Given the description of an element on the screen output the (x, y) to click on. 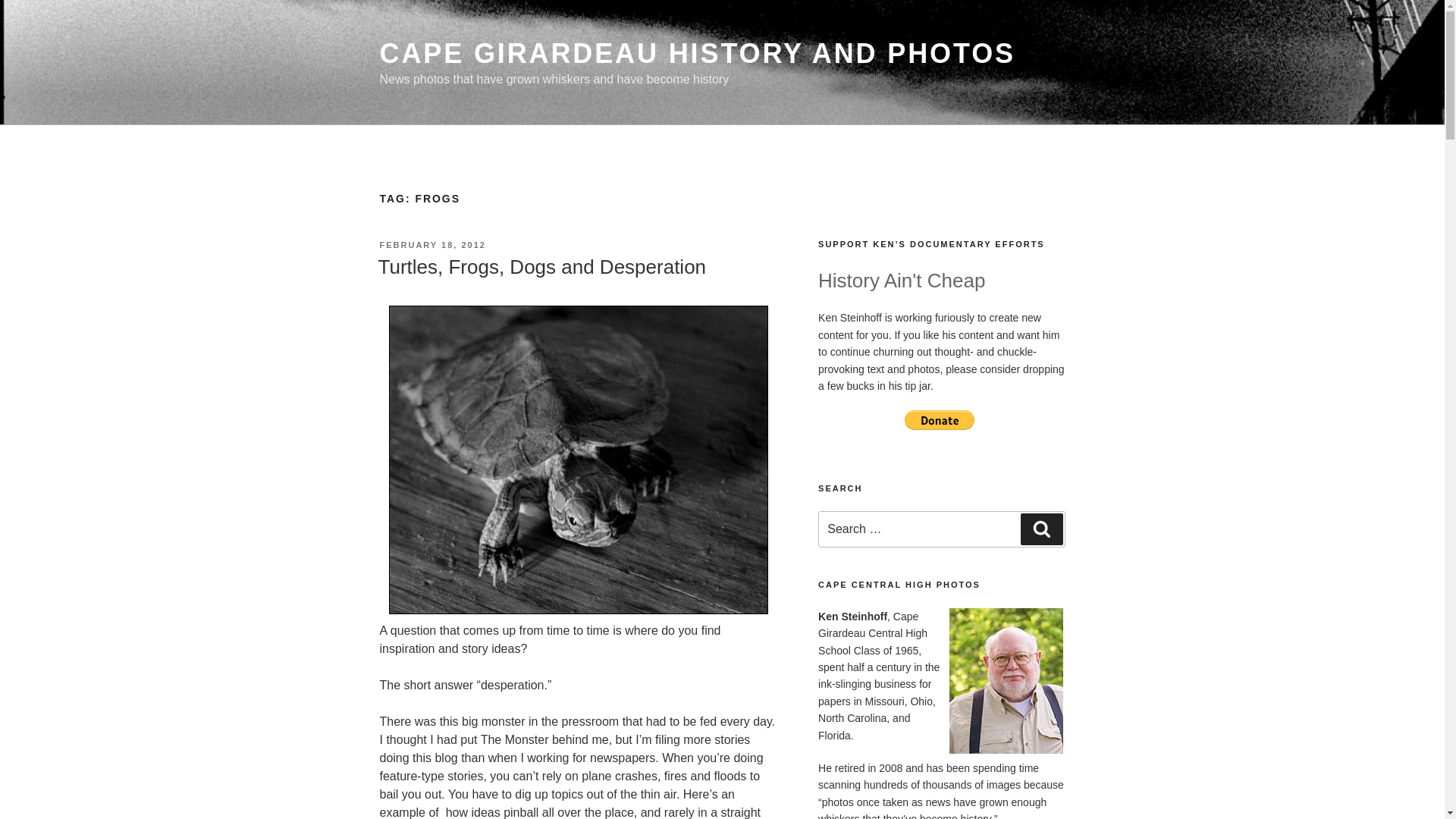
Search (1041, 529)
CAPE GIRARDEAU HISTORY AND PHOTOS (696, 52)
Turtles, Frogs, Dogs and Desperation (541, 266)
Pet turtle (578, 459)
FEBRUARY 18, 2012 (431, 244)
